Given the description of an element on the screen output the (x, y) to click on. 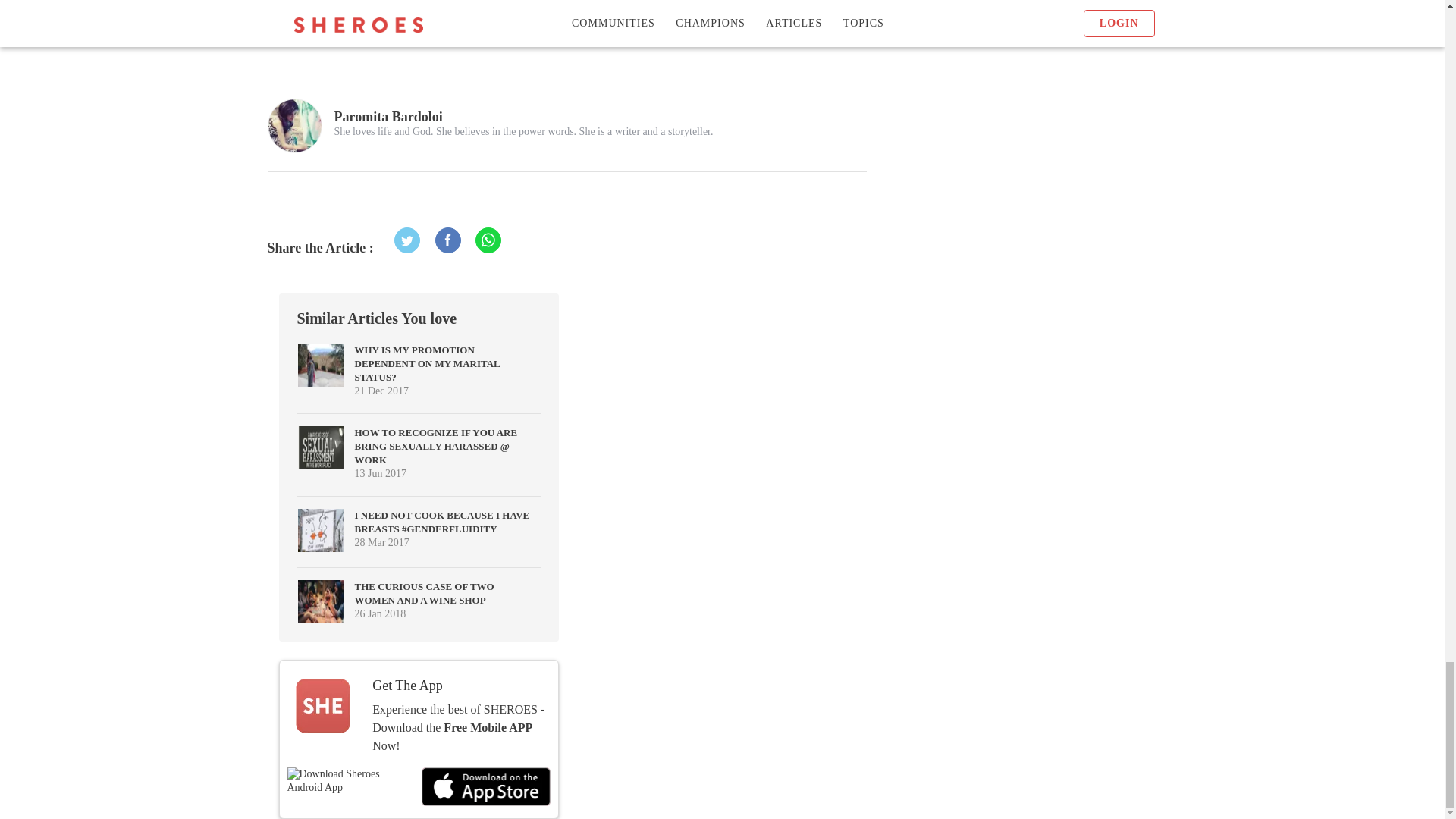
Sheroes (377, 13)
THE CURIOUS CASE OF TWO WOMEN AND A WINE SHOP (425, 593)
WHY IS MY PROMOTION DEPENDENT ON MY MARITAL STATUS? (427, 363)
